Given the description of an element on the screen output the (x, y) to click on. 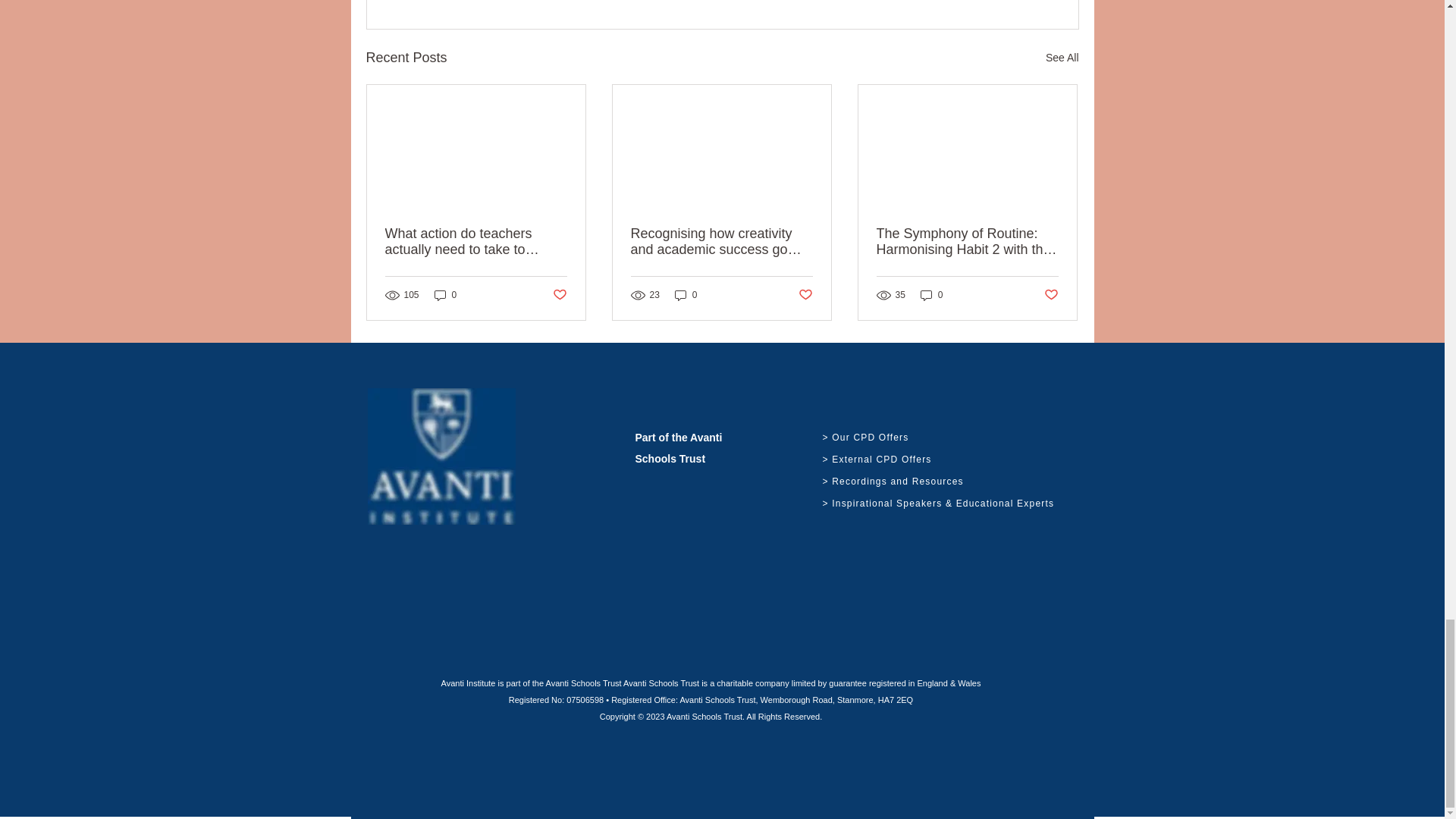
See All (1061, 57)
Post not marked as liked (558, 295)
0 (685, 295)
0 (445, 295)
Post not marked as liked (804, 295)
